Given the description of an element on the screen output the (x, y) to click on. 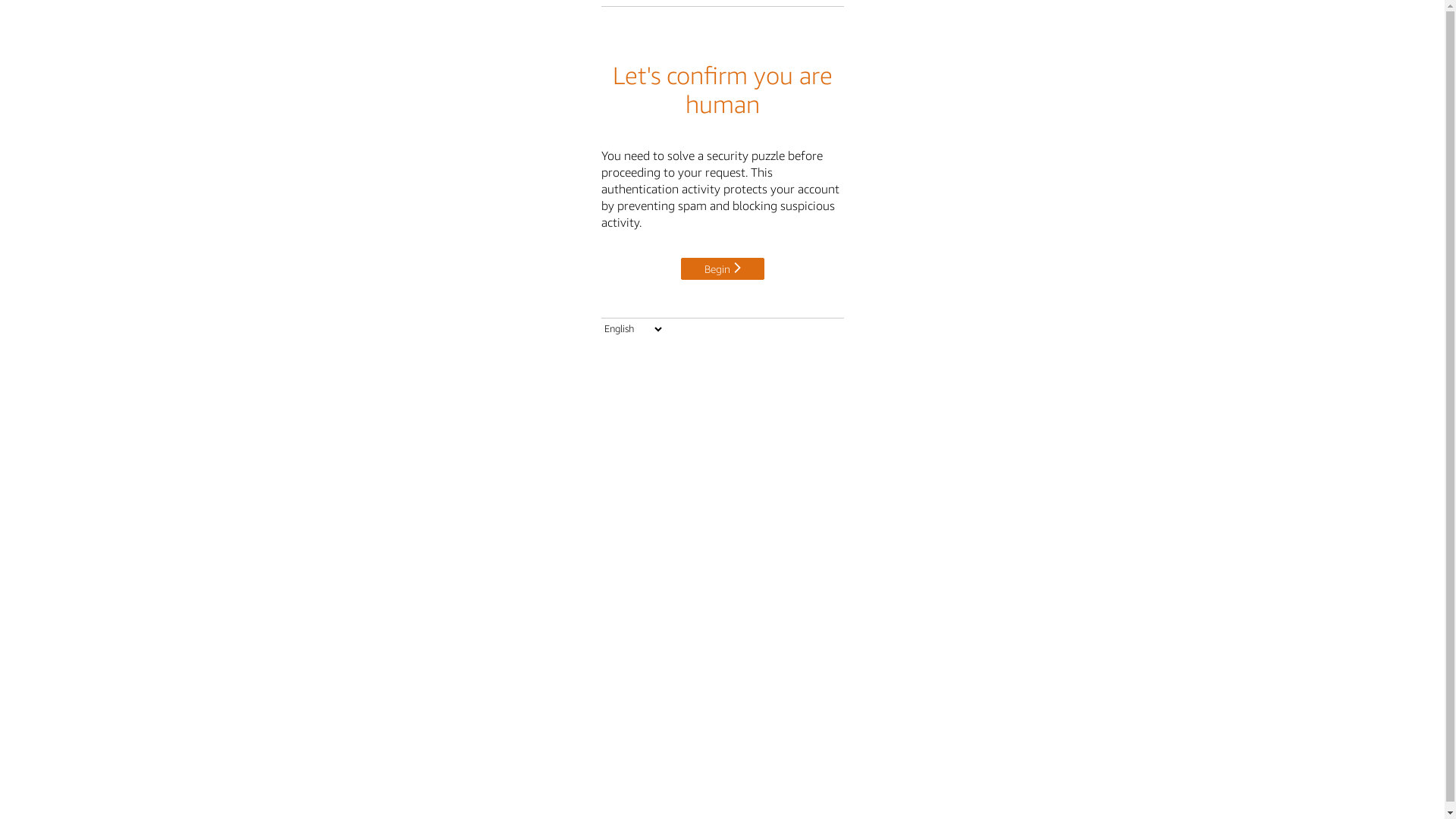
Begin Element type: text (722, 268)
